Given the description of an element on the screen output the (x, y) to click on. 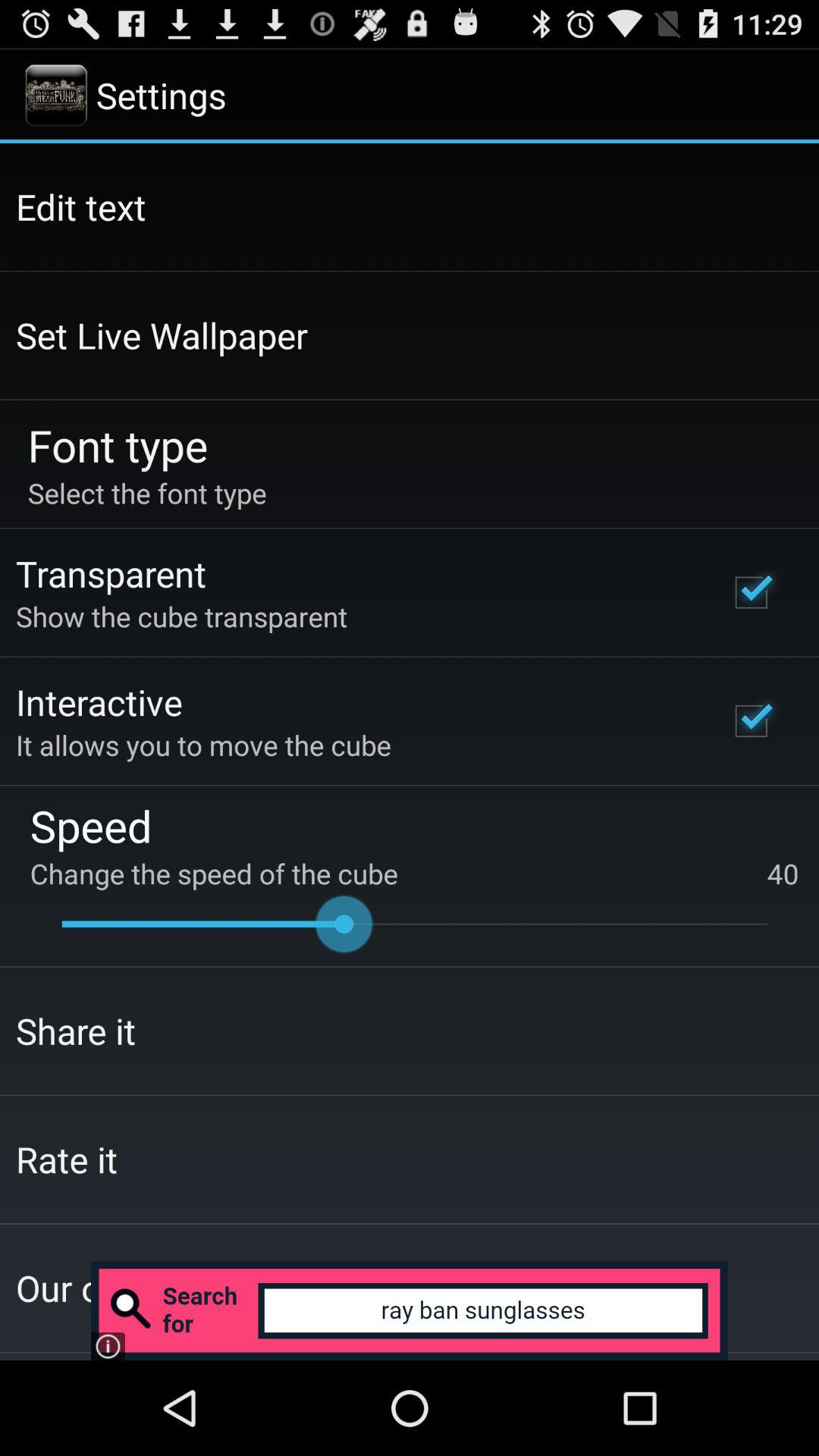
press app below the edit text item (161, 335)
